Given the description of an element on the screen output the (x, y) to click on. 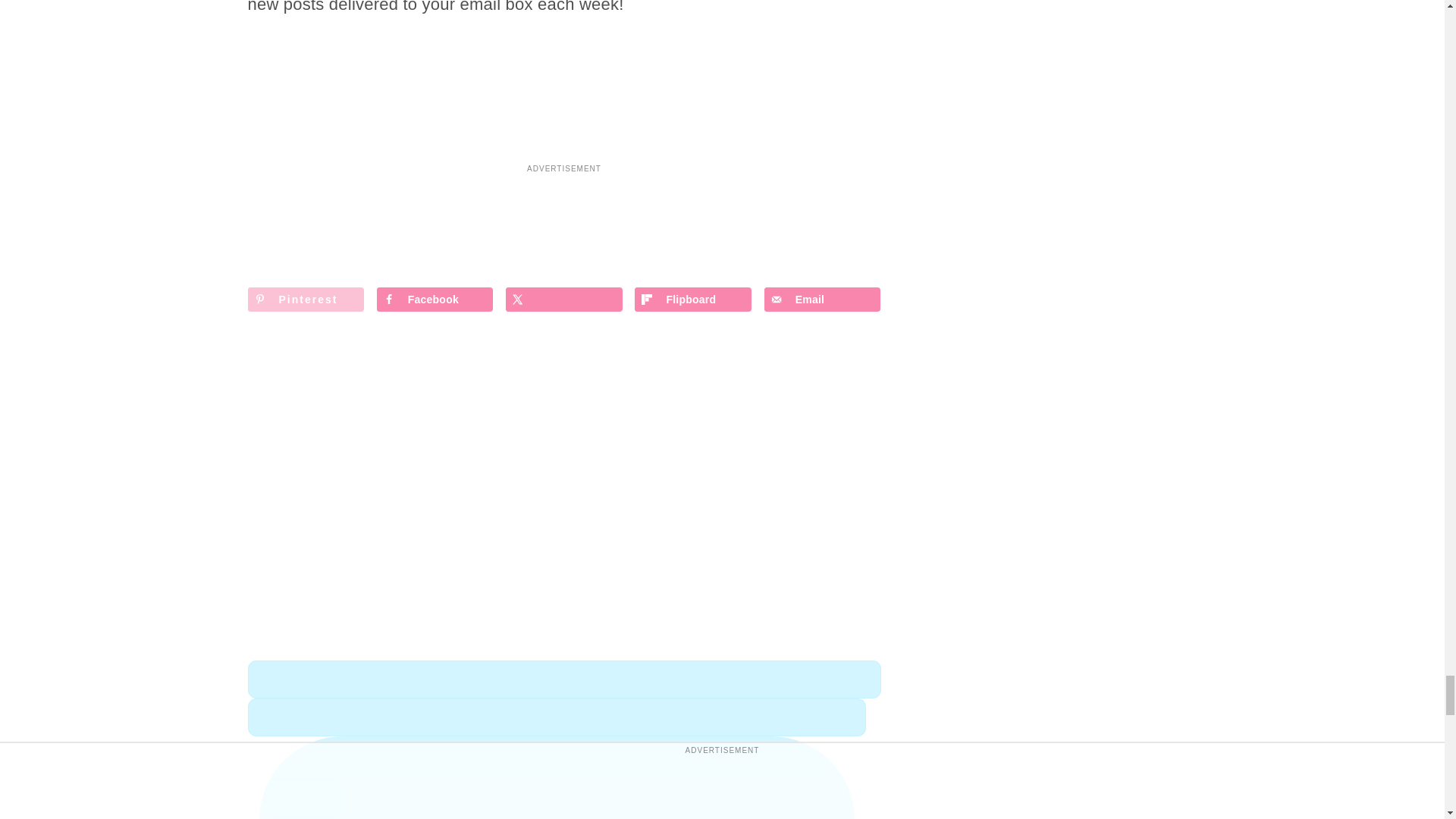
Share on Facebook (435, 299)
Save to Pinterest (305, 299)
